Given the description of an element on the screen output the (x, y) to click on. 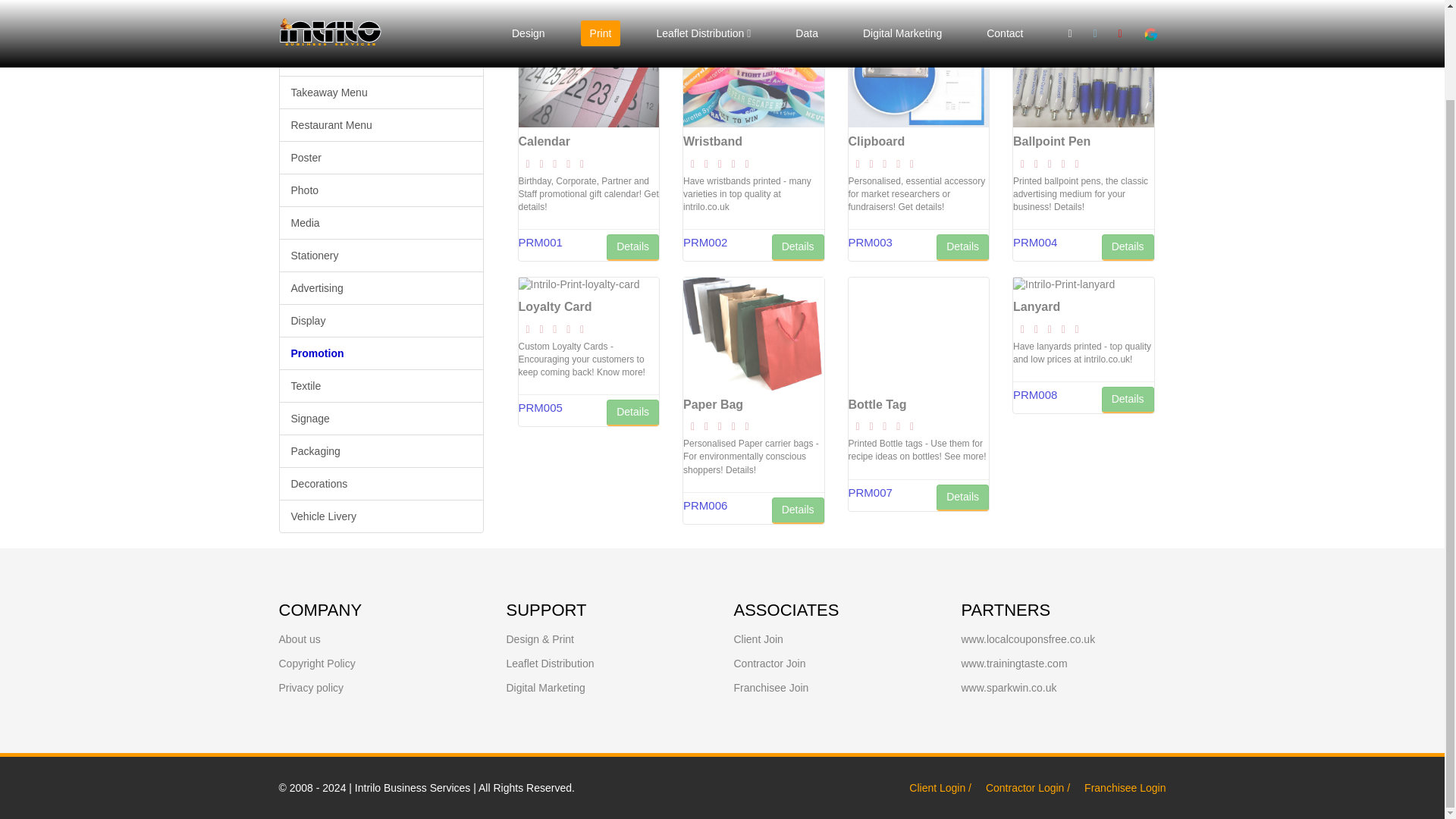
Intrilo Business Services (412, 787)
Display (381, 320)
Click to Open (299, 639)
Click to Open (317, 663)
Signage (381, 418)
Click to Open (769, 663)
Details (633, 247)
Click to Open (771, 687)
Media (381, 222)
Click to Open (545, 687)
Stationery (381, 255)
Click to Open (758, 639)
Details (1128, 247)
Details (633, 412)
Click to Open (1008, 687)
